Given the description of an element on the screen output the (x, y) to click on. 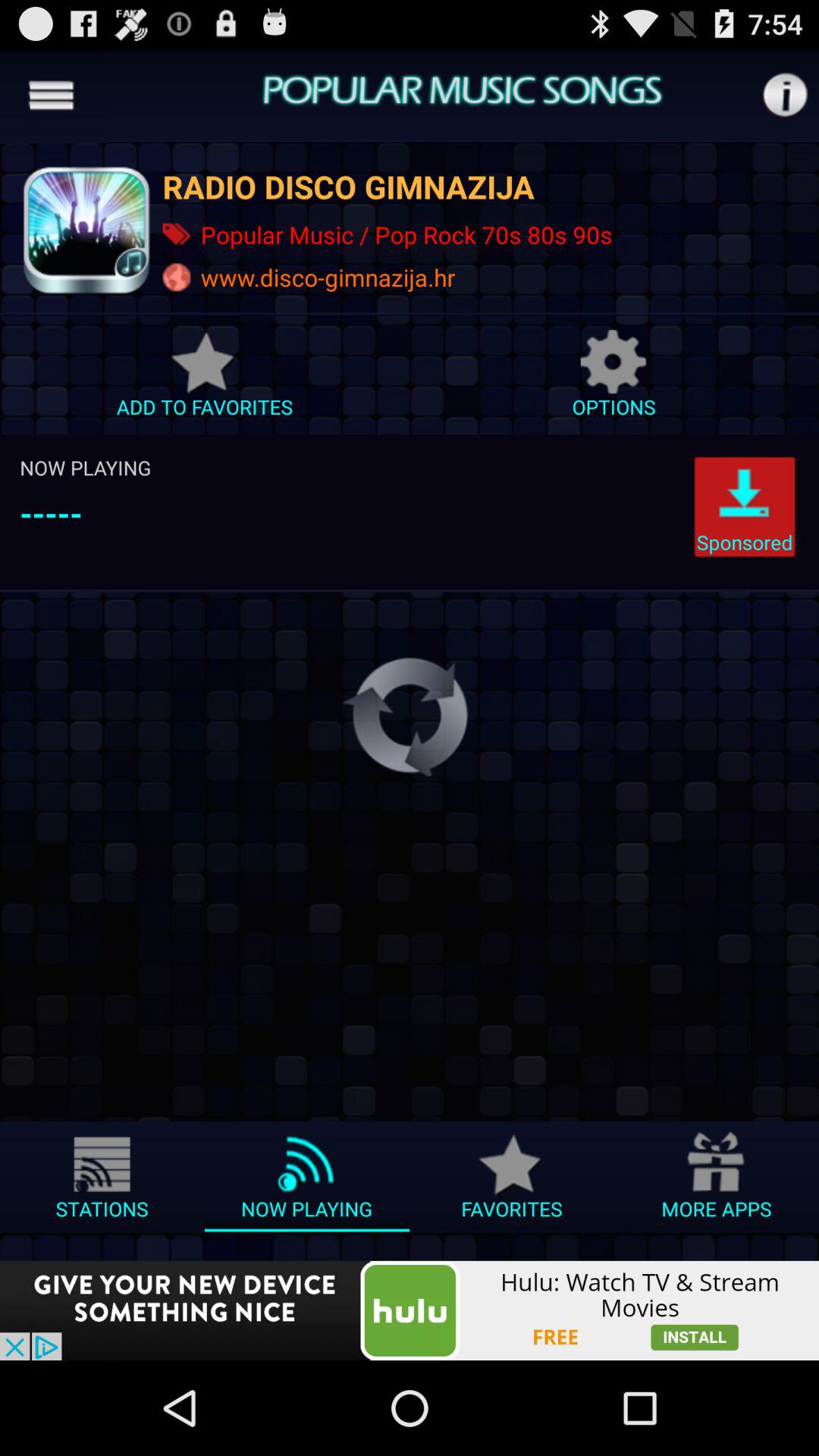
tap to help (784, 95)
